Given the description of an element on the screen output the (x, y) to click on. 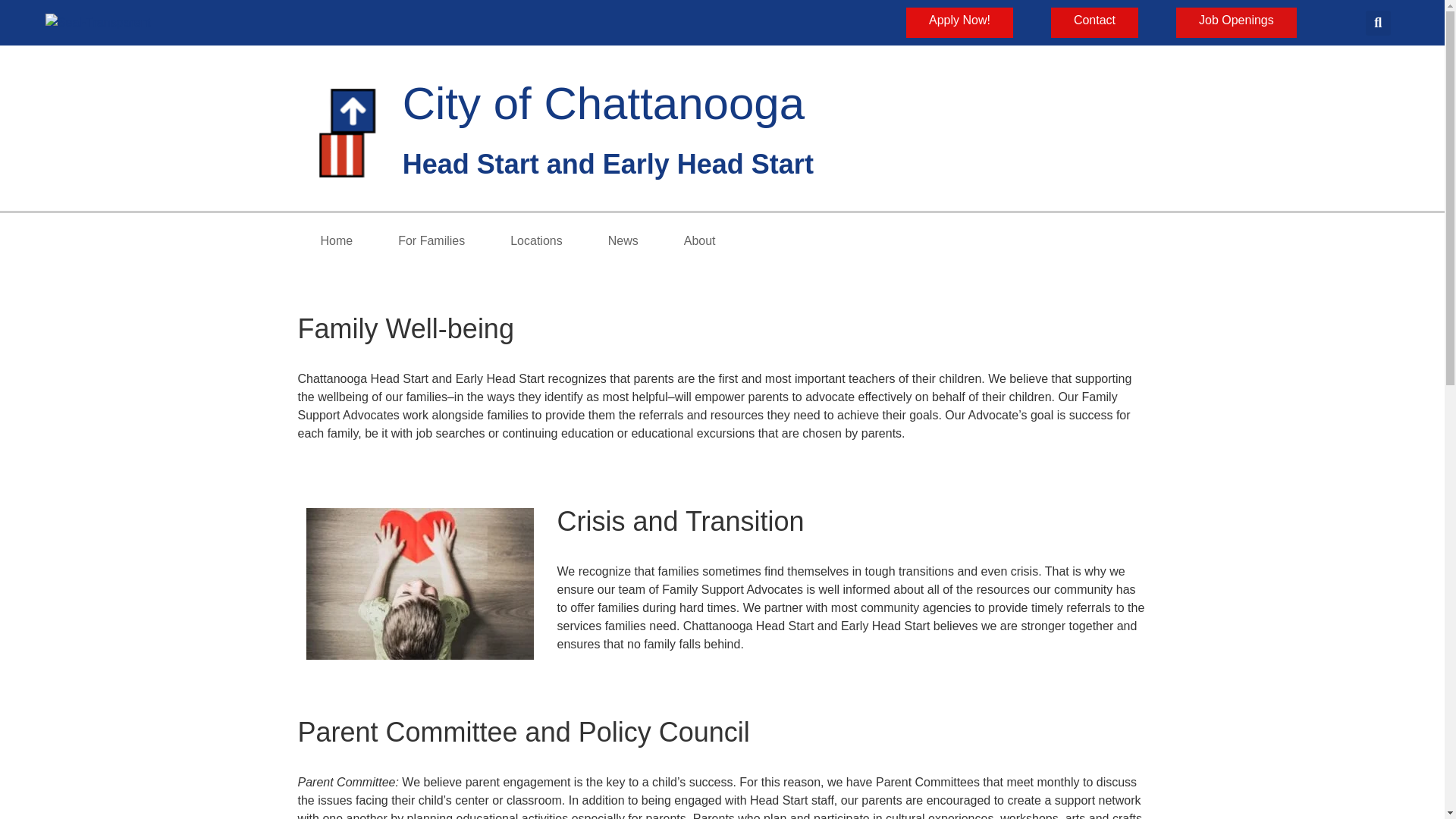
Contact (1094, 22)
Seal-Transparent (98, 22)
Apply Now! (959, 22)
Job Openings (1236, 22)
